Given the description of an element on the screen output the (x, y) to click on. 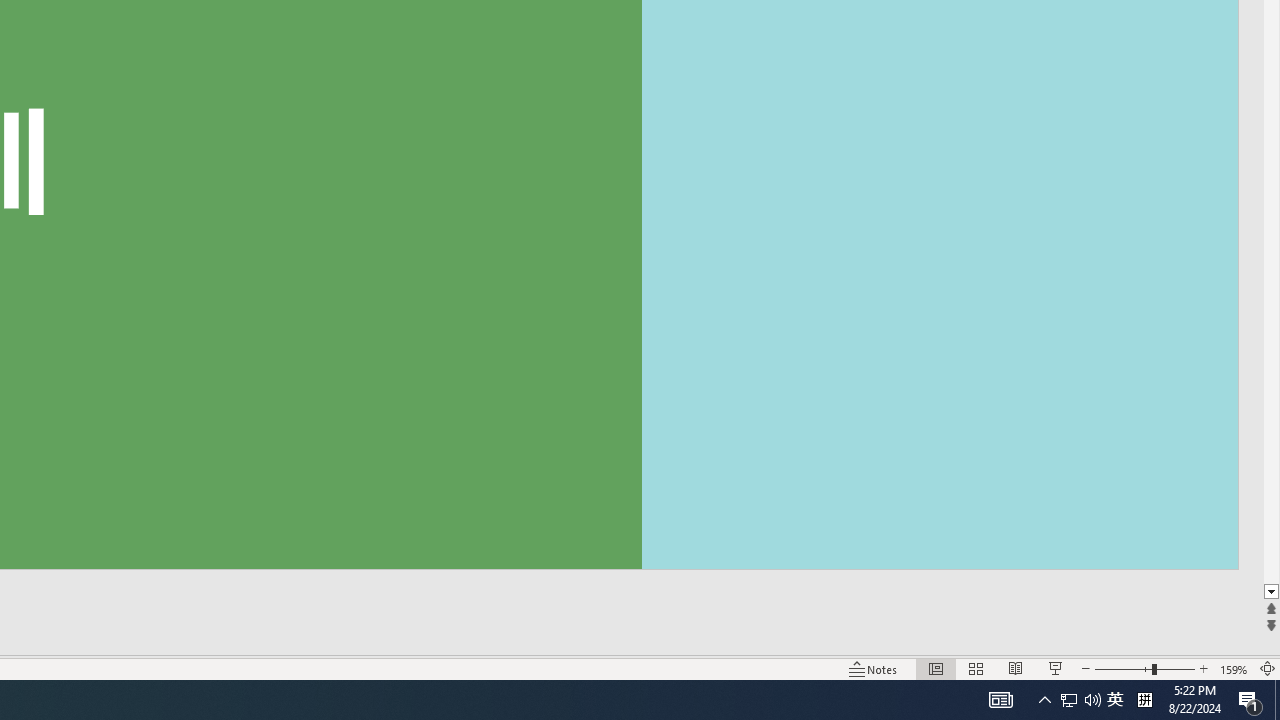
Zoom 159% (1234, 668)
